Given the description of an element on the screen output the (x, y) to click on. 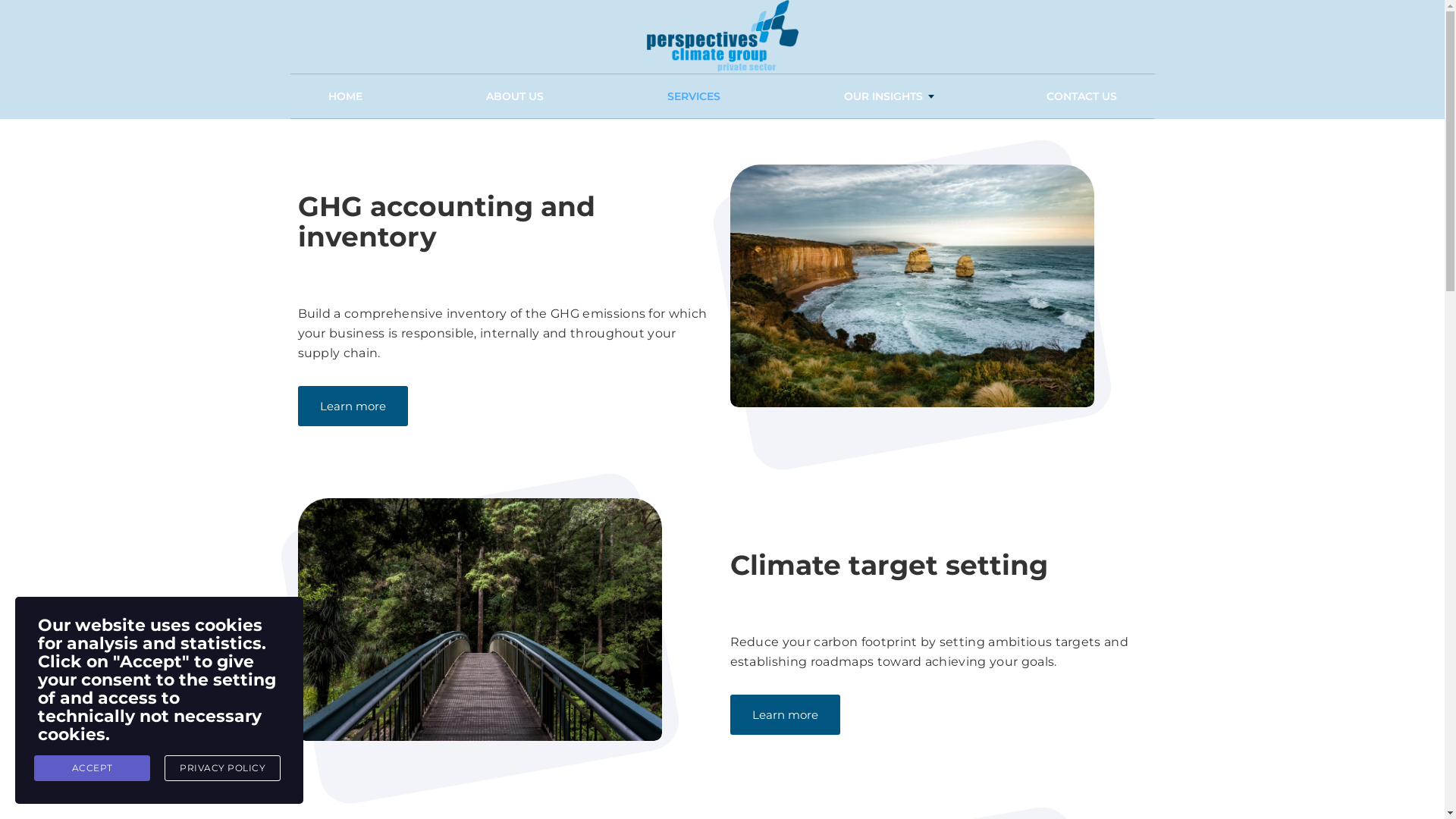
ACCEPT Element type: text (92, 768)
Climate target setting Element type: text (888, 564)
SERVICES Element type: text (693, 96)
HOME Element type: text (344, 96)
PRIVACY POLICY Element type: text (222, 768)
Learn more Element type: text (352, 405)
OUR INSIGHTS Element type: text (883, 96)
CONTACT US Element type: text (1080, 96)
GHG accounting and inventory Element type: text (445, 221)
ABOUT US Element type: text (514, 96)
Learn more Element type: text (784, 714)
